Given the description of an element on the screen output the (x, y) to click on. 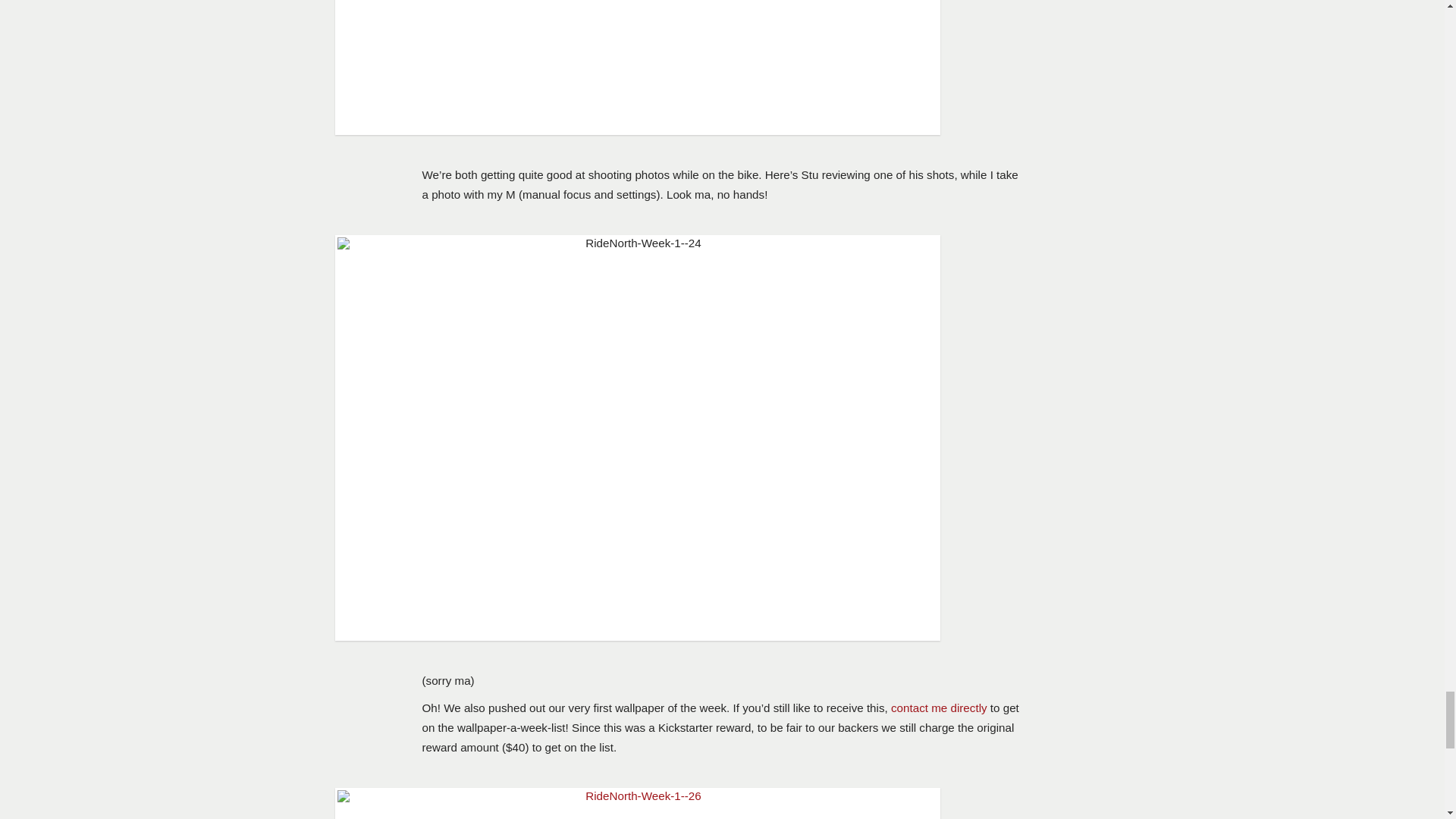
contact me directly (939, 707)
